Given the description of an element on the screen output the (x, y) to click on. 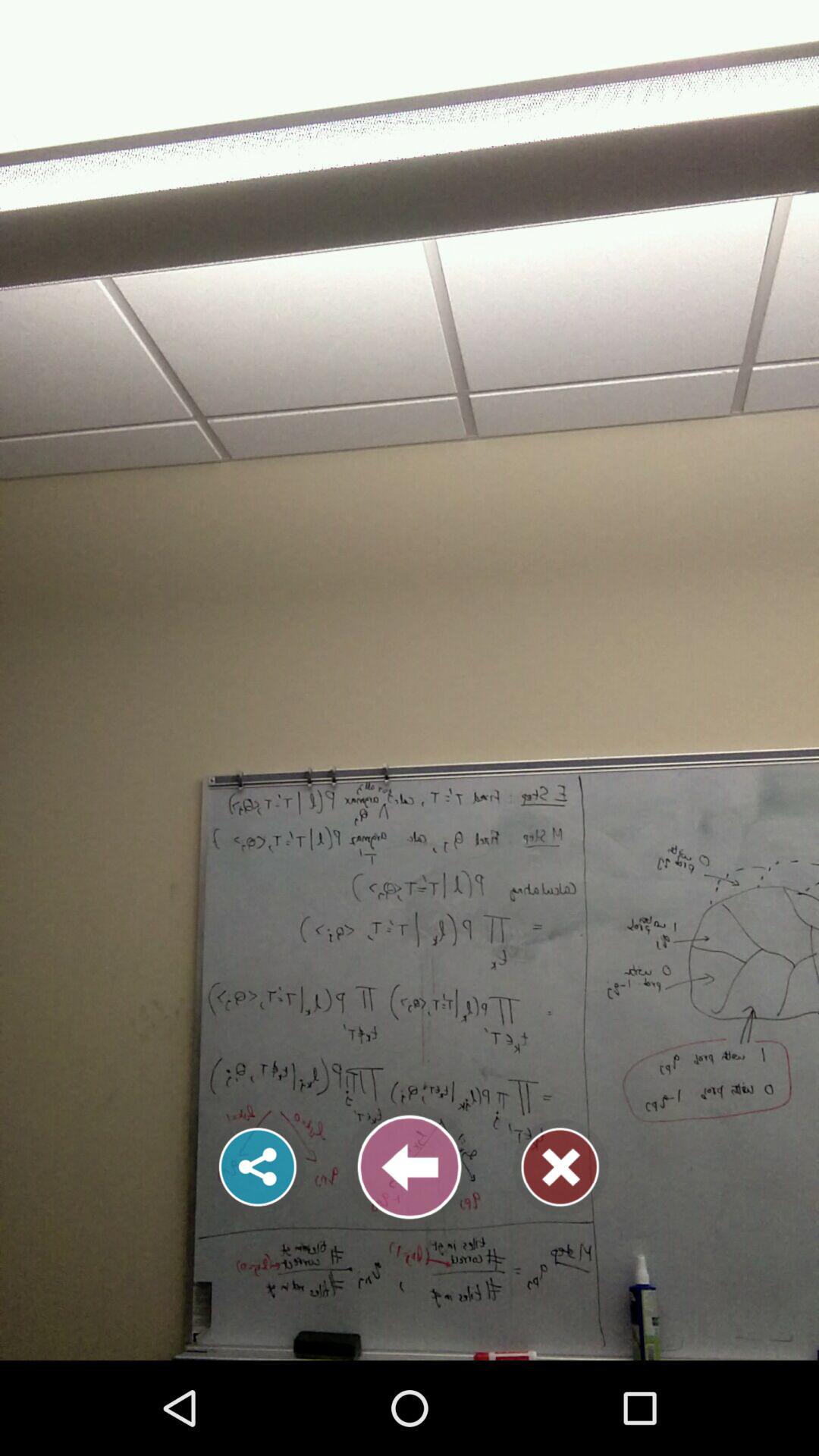
share (257, 1166)
